Given the description of an element on the screen output the (x, y) to click on. 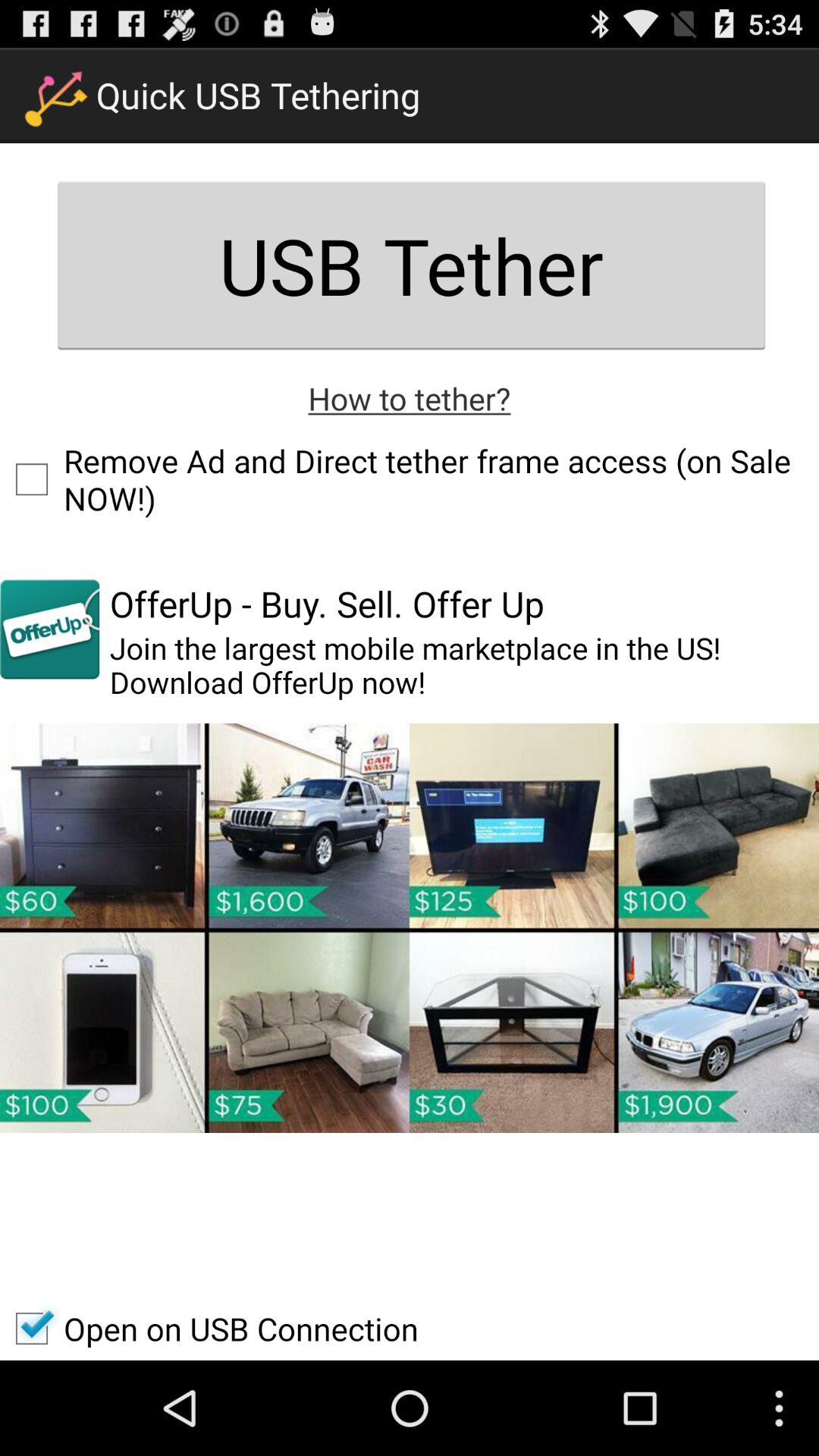
turn off icon below the usb tether item (409, 398)
